Given the description of an element on the screen output the (x, y) to click on. 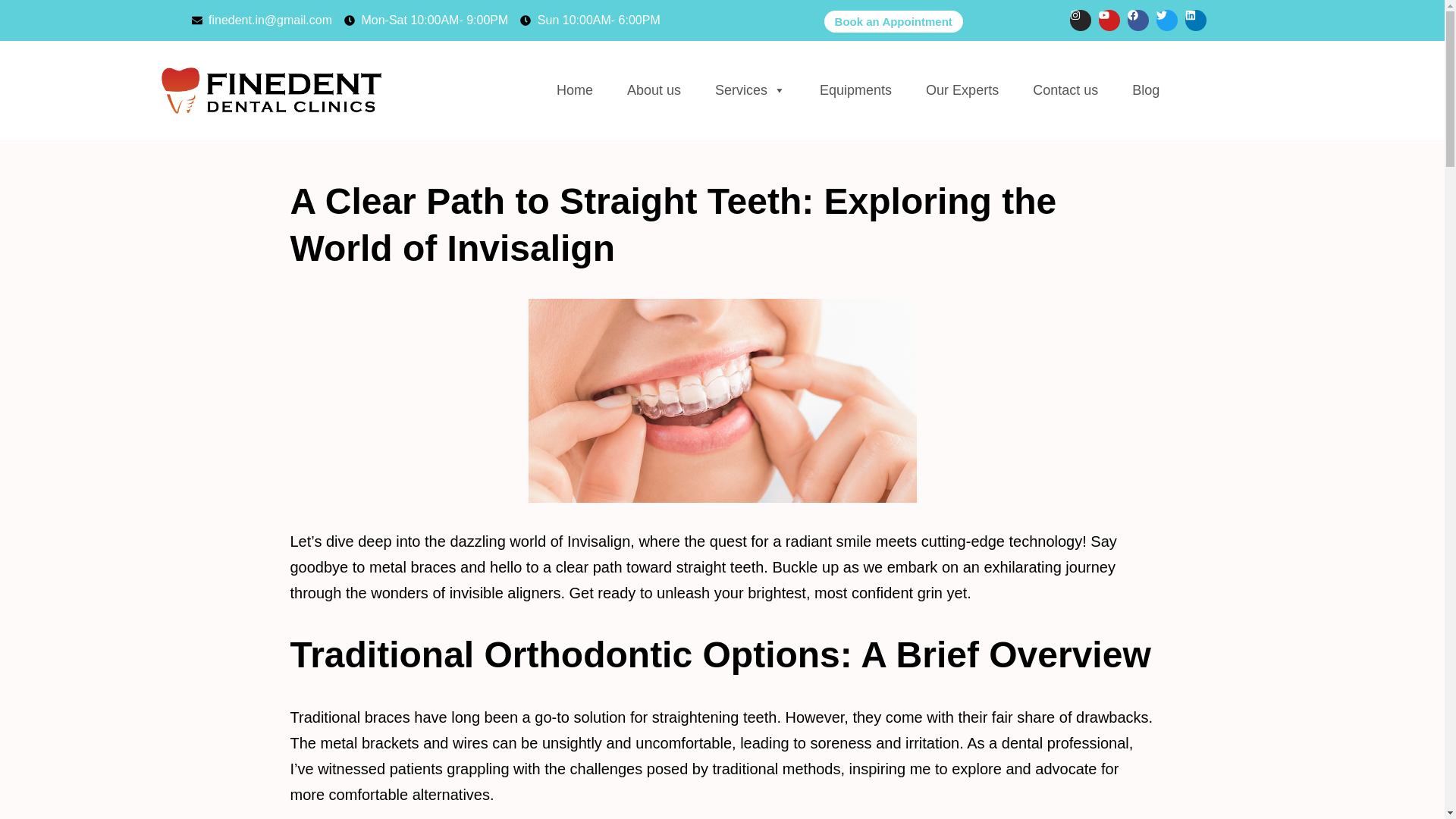
Home (573, 90)
Book an Appointment (893, 21)
About us (654, 90)
Services (750, 90)
